Given the description of an element on the screen output the (x, y) to click on. 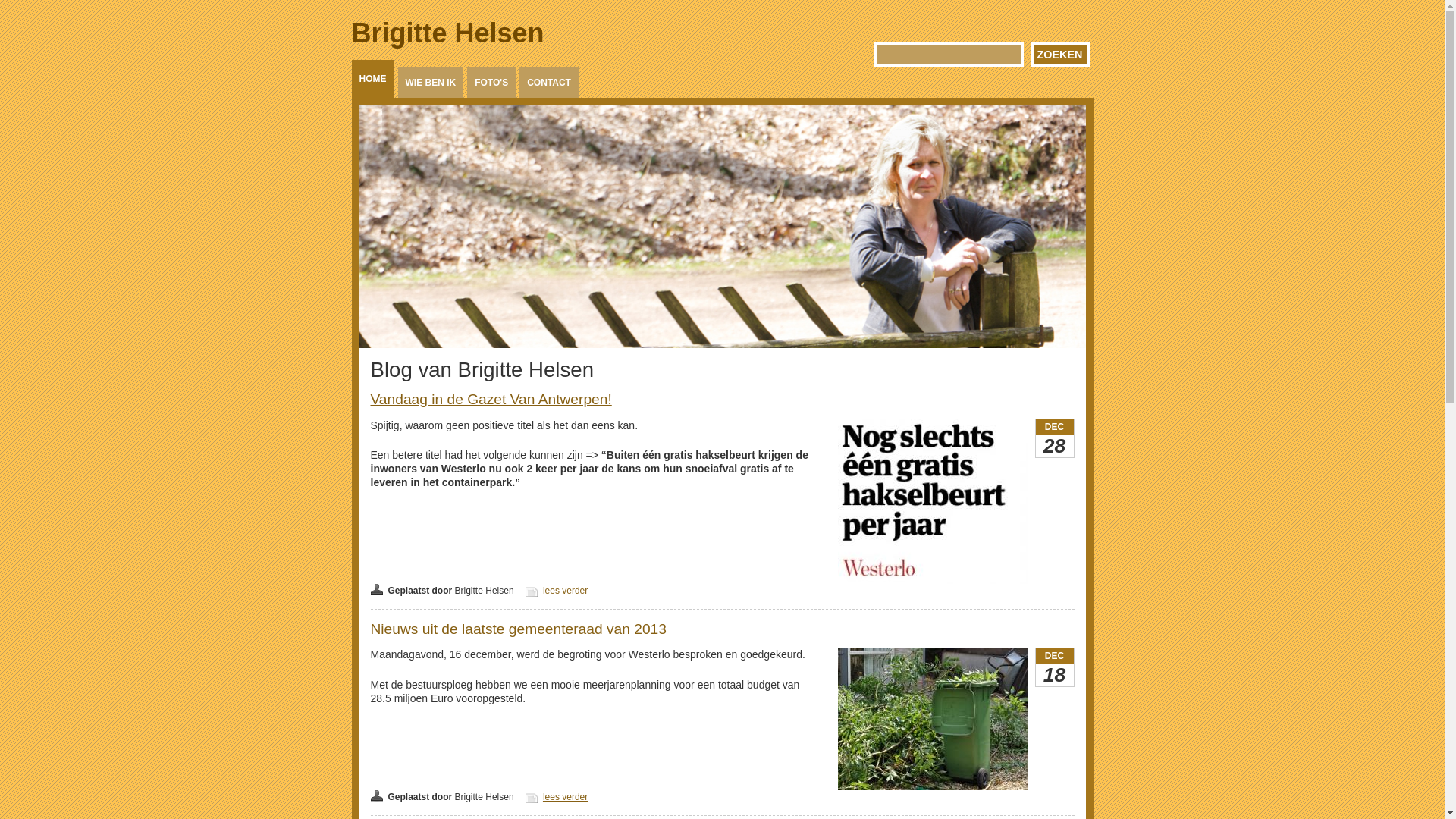
Geef de woorden op waarnaar u wilt zoeken. Element type: hover (948, 54)
lees verder Element type: text (564, 590)
Vandaag in de Gazet Van Antwerpen! Element type: text (490, 399)
WIE BEN IK Element type: text (430, 82)
Nieuws uit de laatste gemeenteraad van 2013 Element type: text (517, 629)
Brigitte Helsen Element type: text (447, 32)
CONTACT Element type: text (548, 82)
HOME Element type: text (372, 78)
FOTO'S Element type: text (491, 82)
lees verder Element type: text (564, 796)
Jump to Content Element type: text (33, 7)
Zoeken Element type: text (1059, 54)
